Given the description of an element on the screen output the (x, y) to click on. 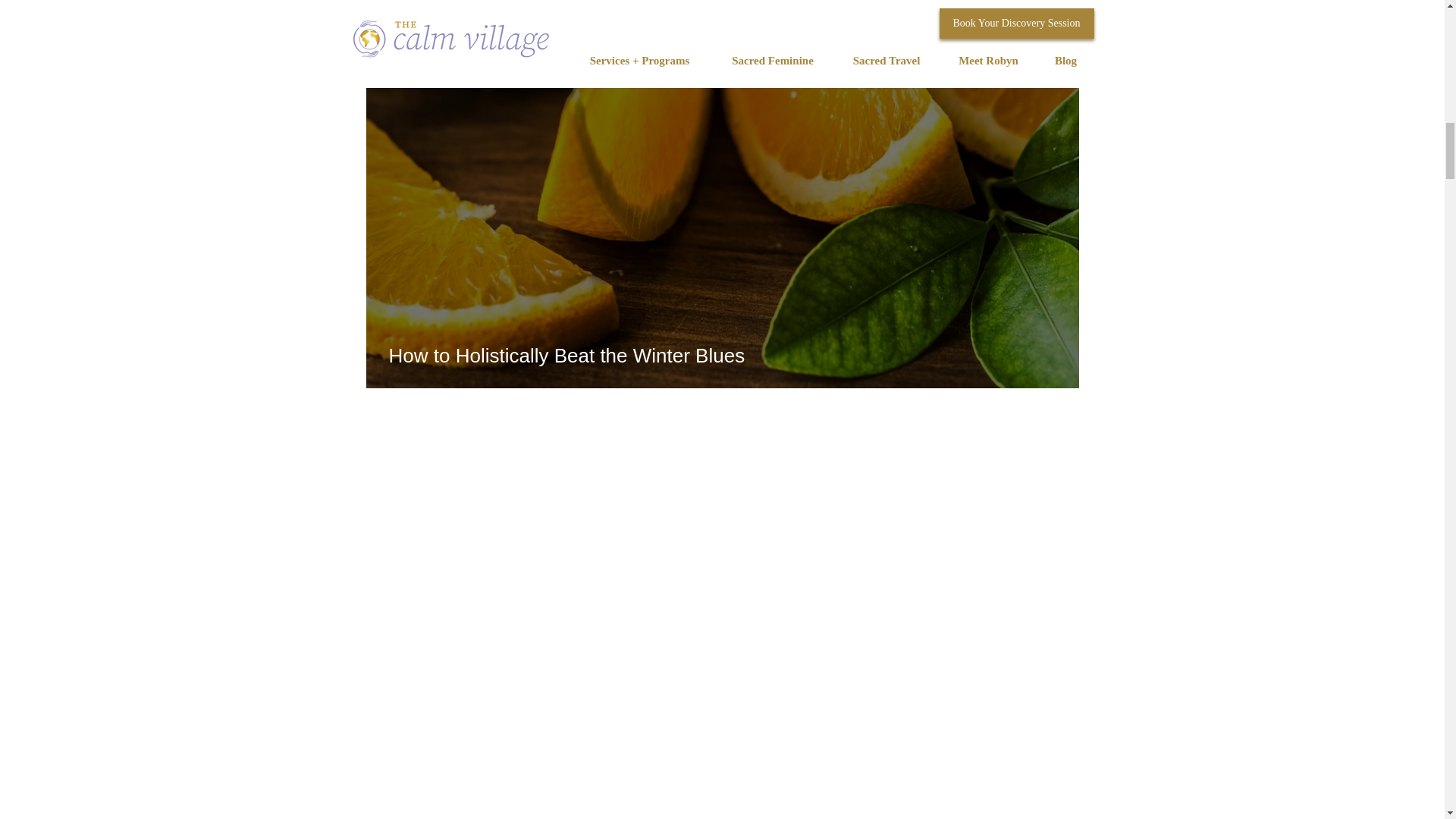
How to Holistically Beat the Winter Blues (721, 355)
